Given the description of an element on the screen output the (x, y) to click on. 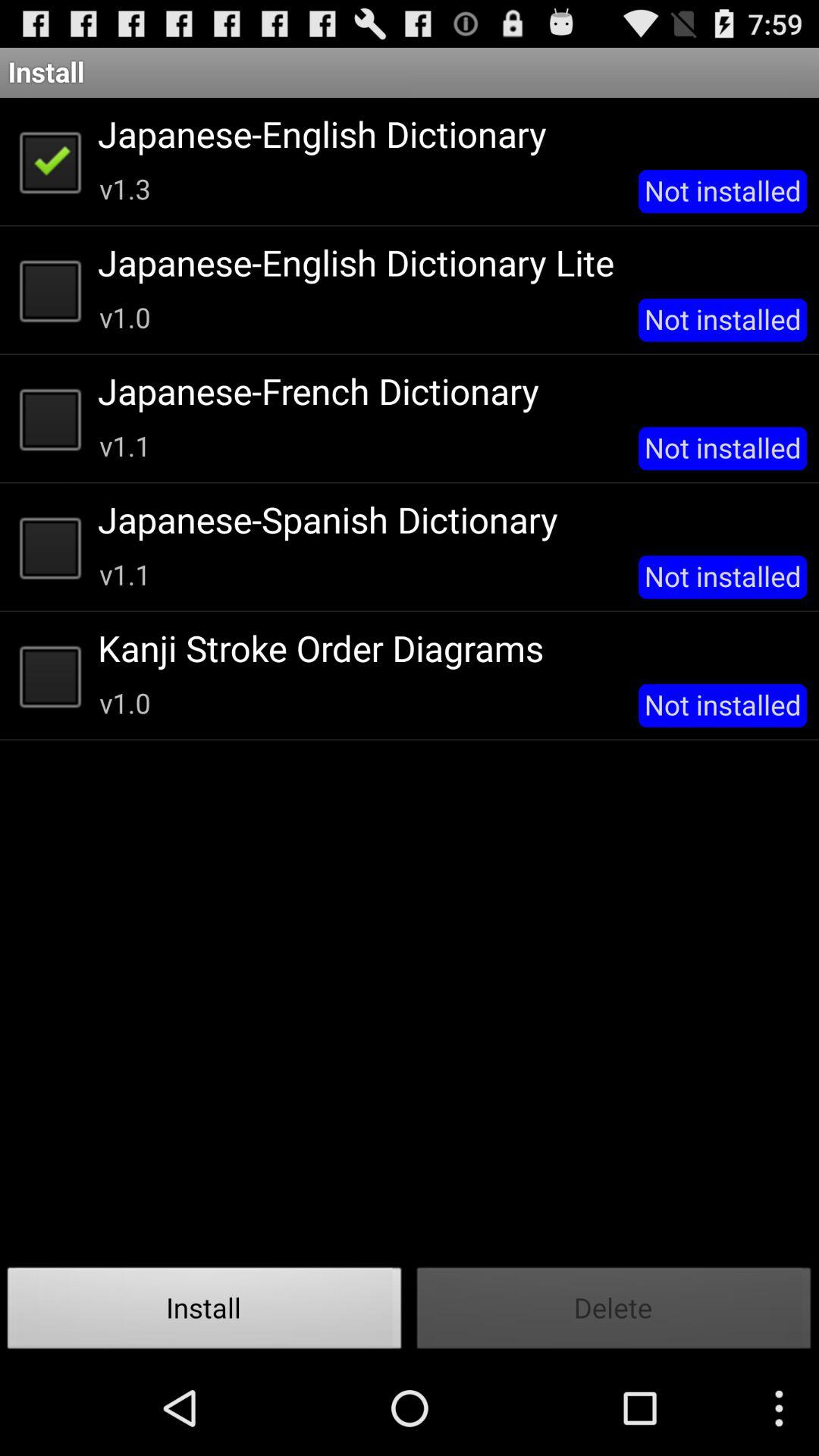
flip to the kanji stroke order app (447, 647)
